Given the description of an element on the screen output the (x, y) to click on. 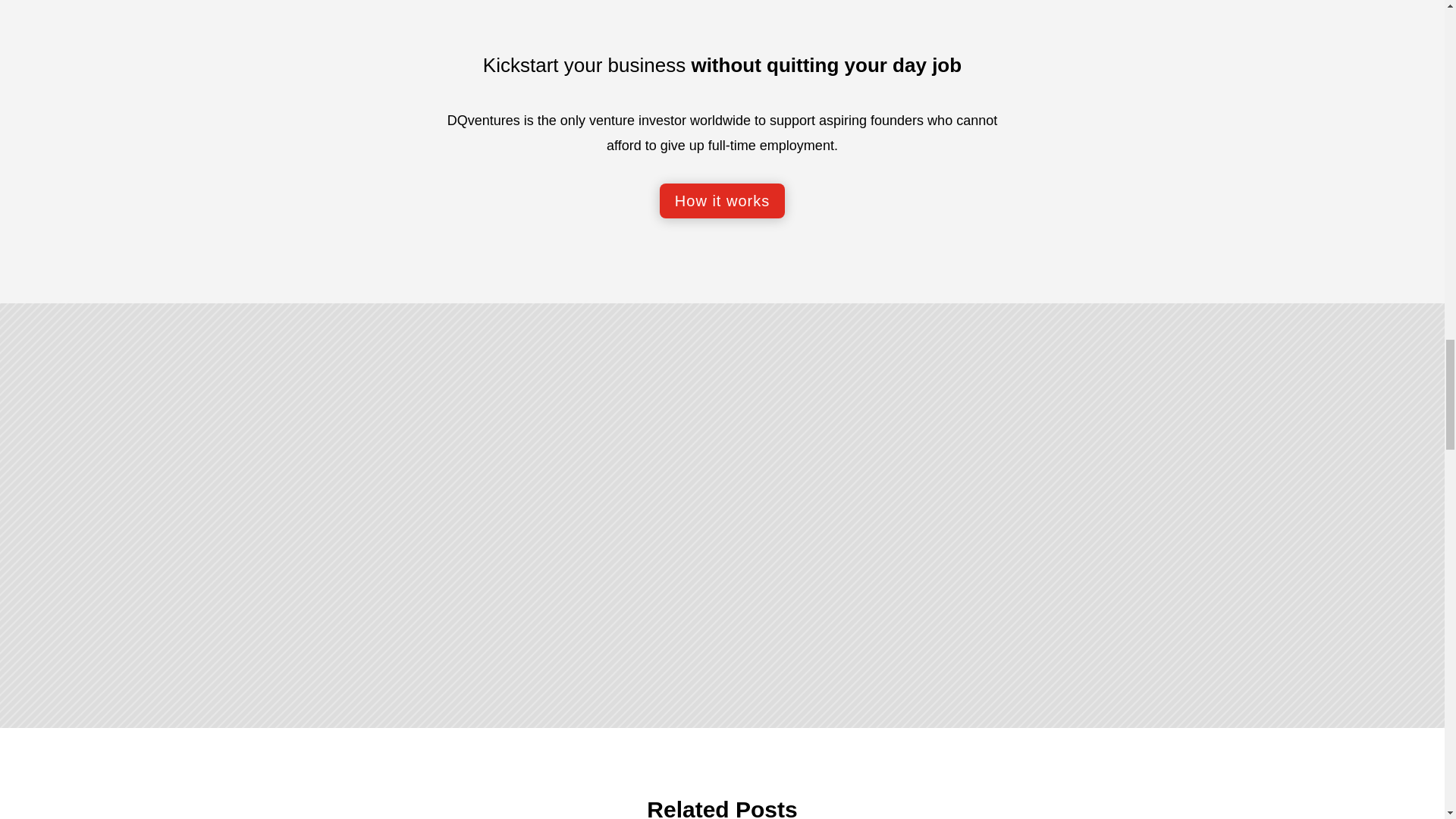
DQ Logo (721, 14)
How it works (721, 200)
